Given the description of an element on the screen output the (x, y) to click on. 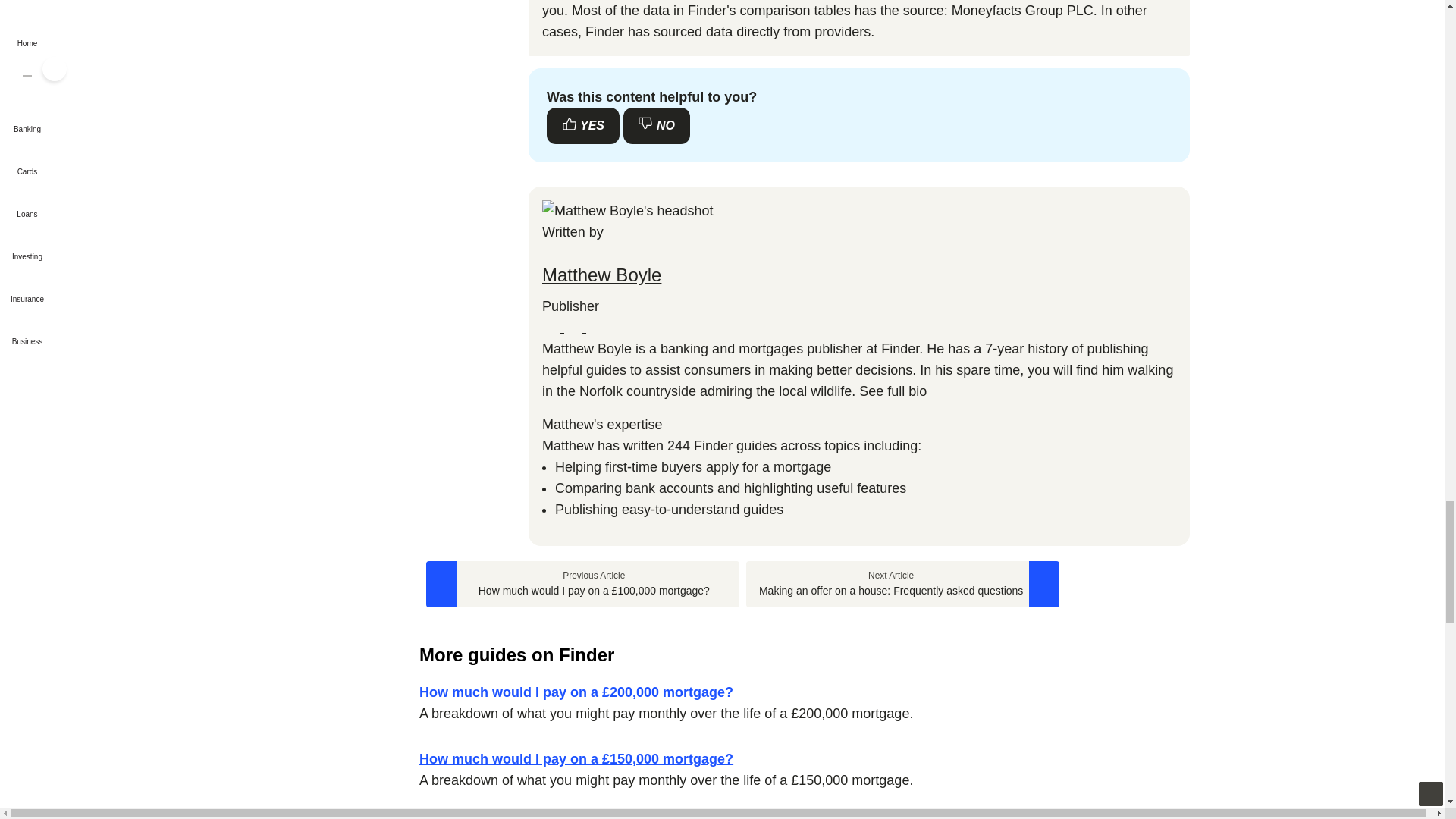
Making an offer on a house: Frequently asked questions (902, 583)
